Given the description of an element on the screen output the (x, y) to click on. 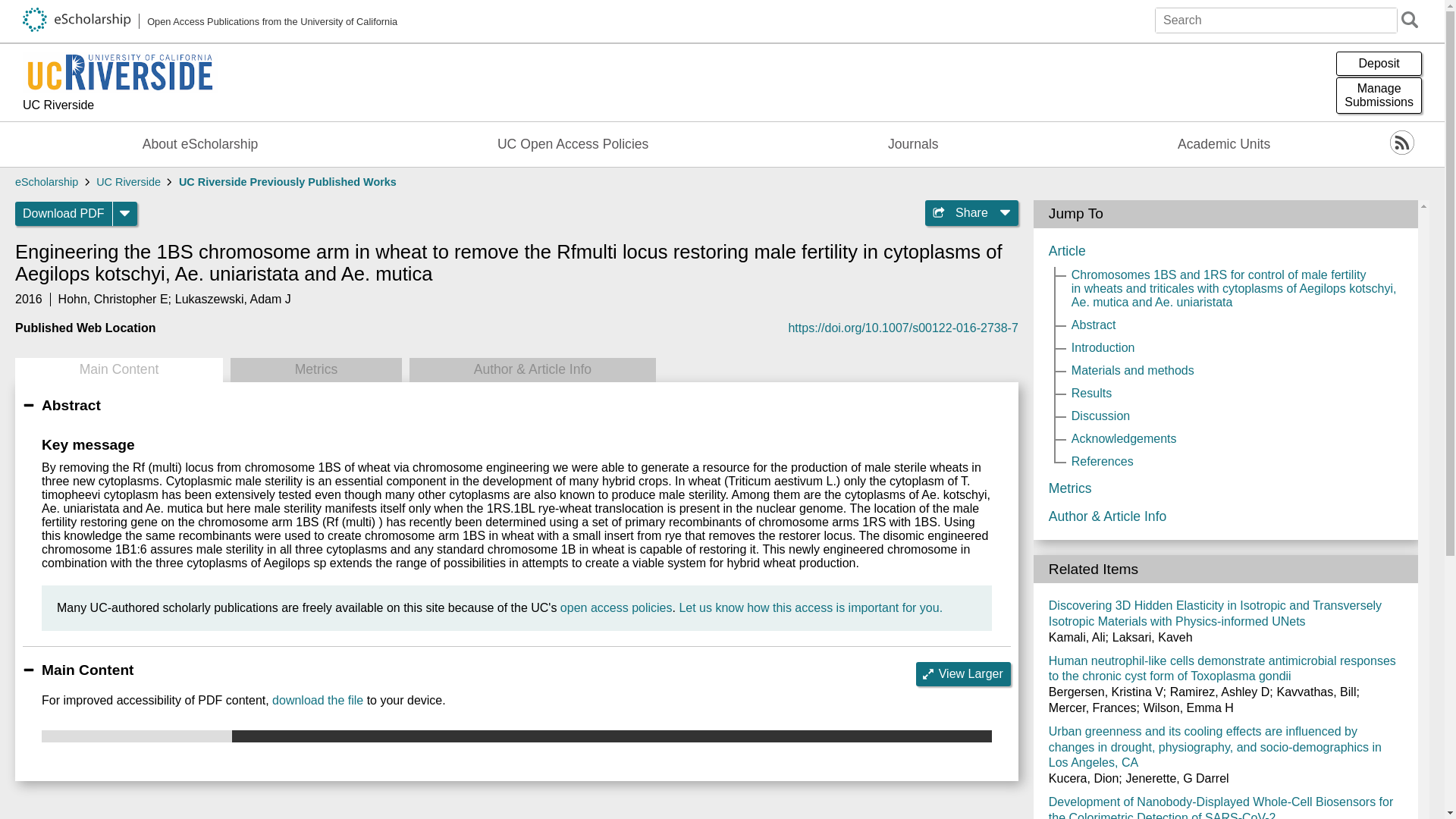
Metrics (315, 369)
download the file (317, 699)
Lukaszewski, Adam J (232, 298)
open access policies (1379, 94)
UC Open Access Policies (616, 607)
View Larger (572, 143)
Download PDF (962, 673)
UC Riverside Previously Published Works (63, 213)
Main Content (287, 182)
UC Riverside (118, 369)
Let us know how this access is important for you. (128, 182)
Academic Units (810, 607)
Deposit (1224, 143)
eScholarship (1379, 63)
